Given the description of an element on the screen output the (x, y) to click on. 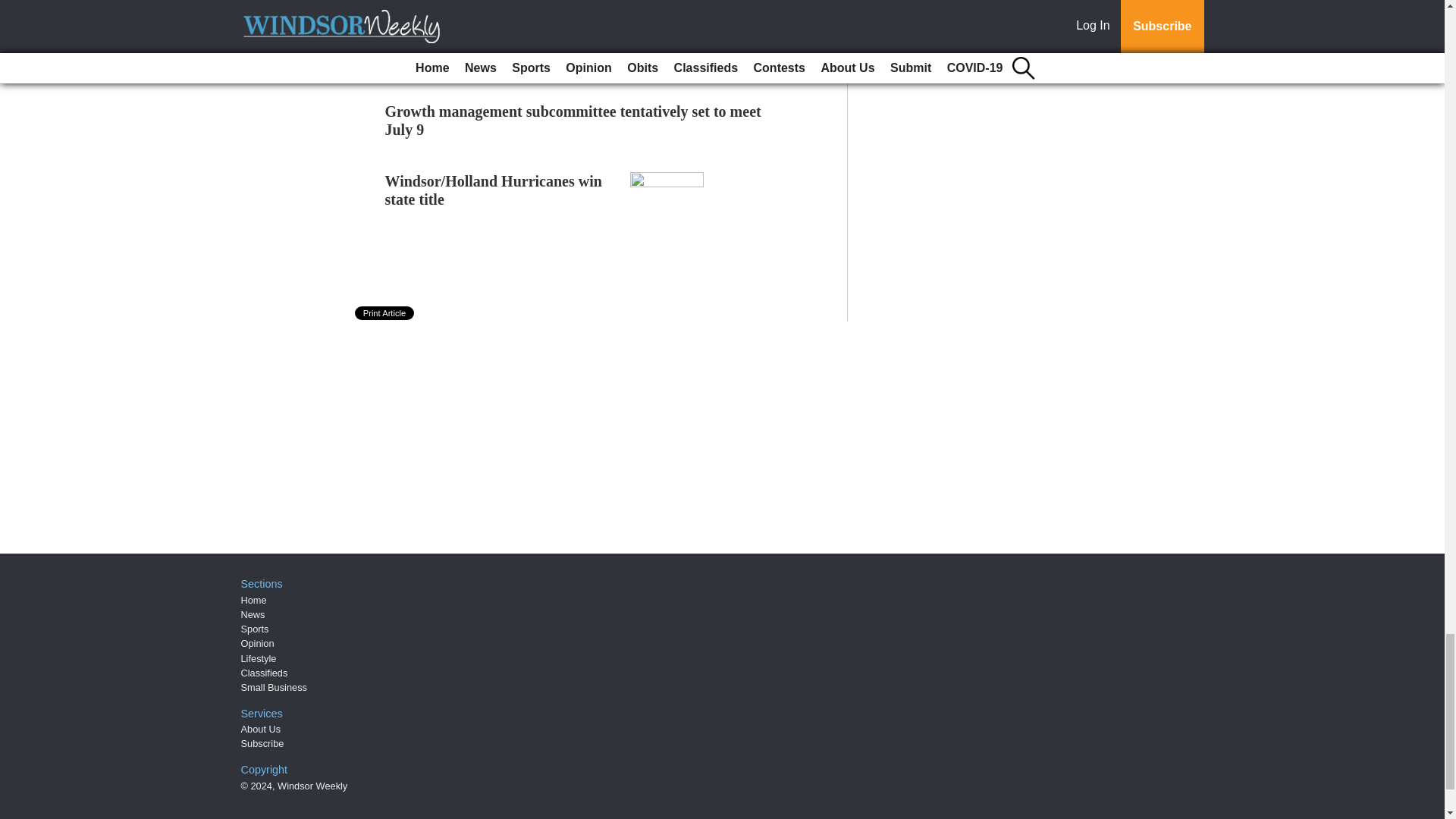
Home (253, 600)
Sports (255, 628)
Small Business (274, 686)
Windsor looks for write-in candidate for council (470, 1)
Print Article (384, 313)
Windsor looks for write-in candidate for council (470, 1)
Opinion (258, 643)
News (252, 614)
About Us (261, 728)
Lifestyle (258, 658)
Subscribe (262, 743)
Classifieds (264, 672)
